Given the description of an element on the screen output the (x, y) to click on. 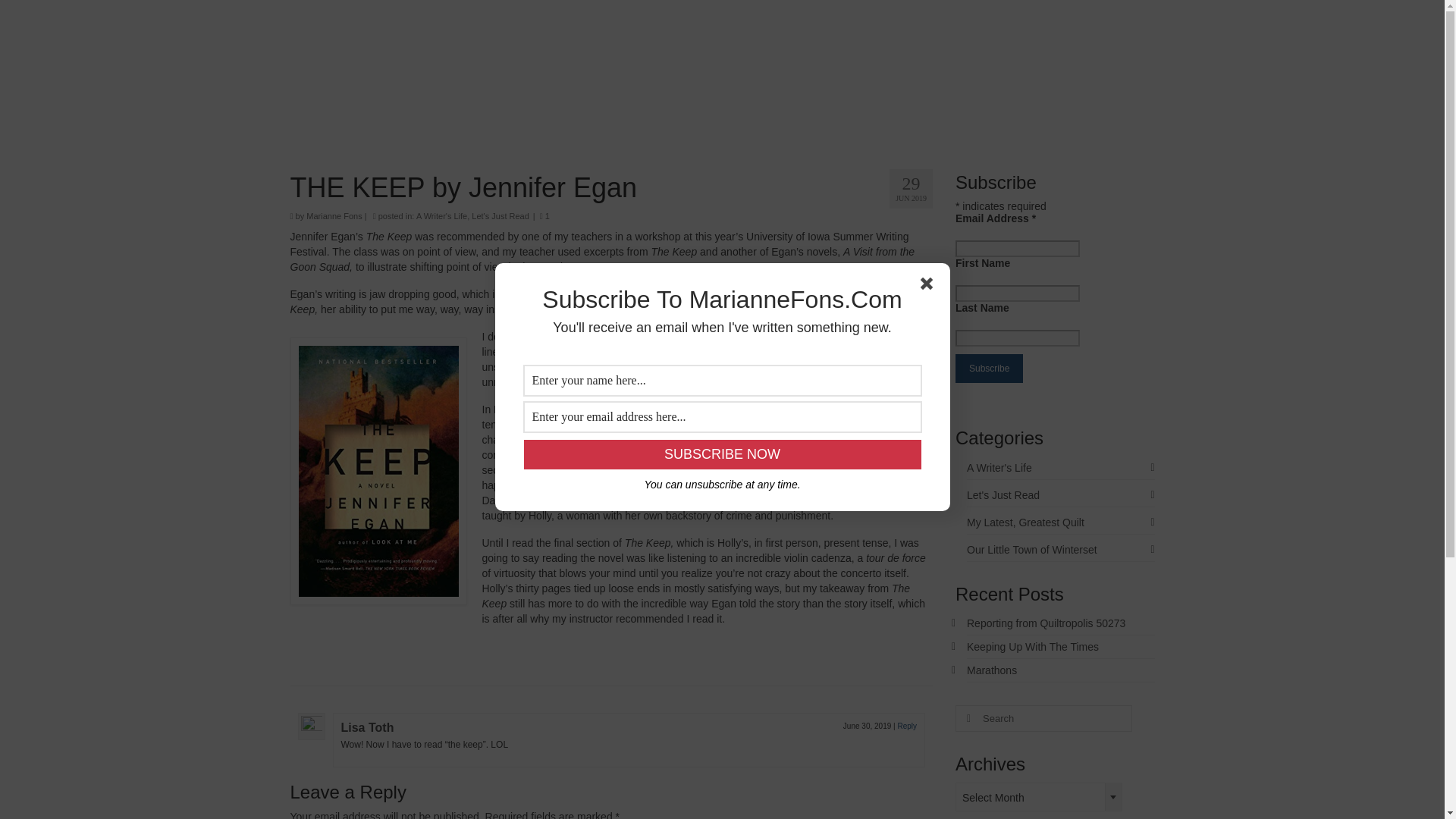
Blog Posts (646, 119)
Let's Just Read (499, 215)
Marianne Fons (333, 215)
Marianne Fons (724, 35)
Close optin form (929, 286)
Marianne Fons (724, 35)
Home (360, 119)
Subscribe (989, 368)
A Writer's Life (1060, 467)
Subscribe Now (721, 454)
Reporting from Quiltropolis 50273 (1045, 623)
1 (545, 215)
My Latest, Greatest Quilt (1060, 522)
Reply (906, 725)
Subscribe Now (721, 454)
